Given the description of an element on the screen output the (x, y) to click on. 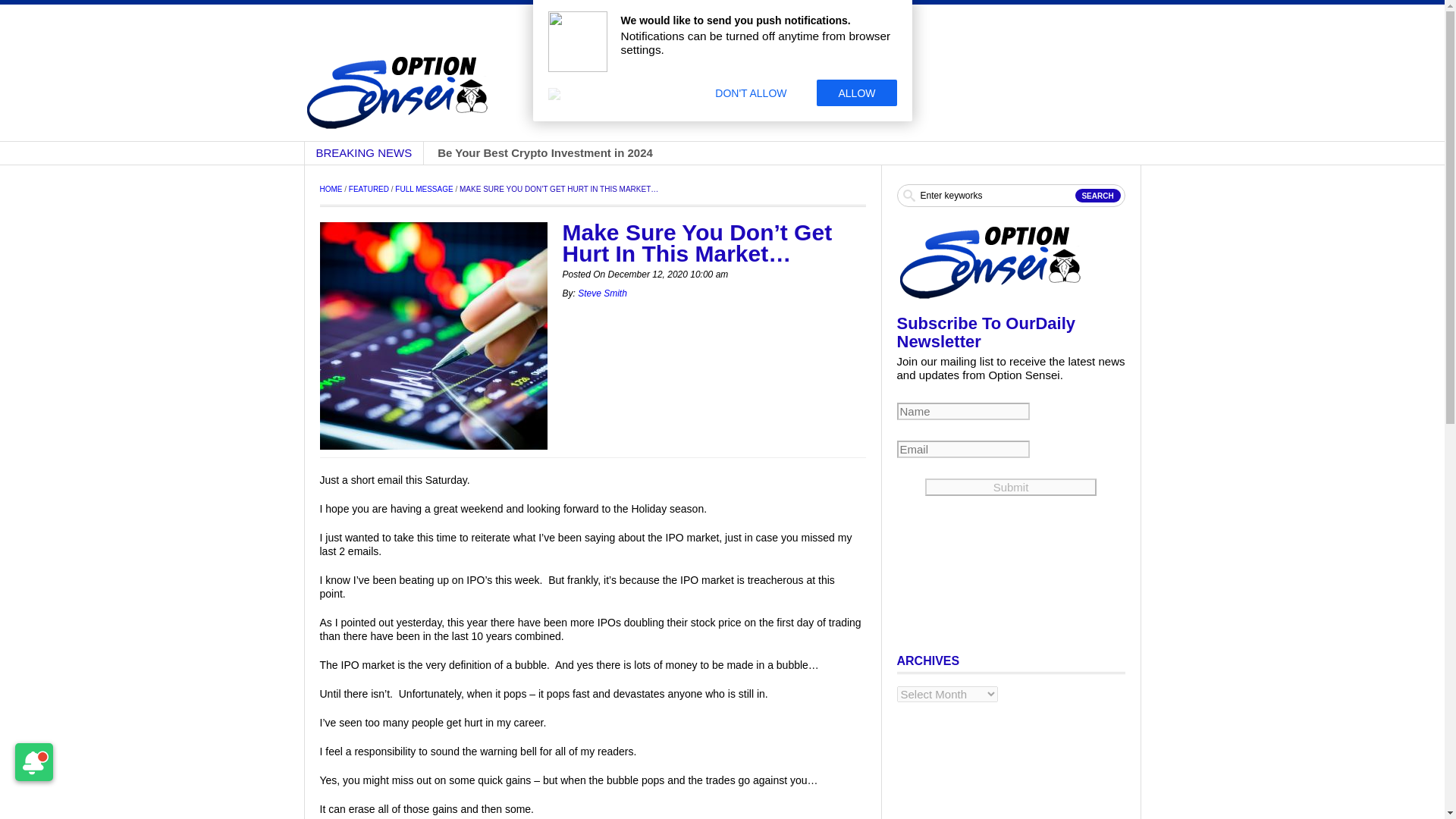
Enter keyworks (1010, 195)
Full Message (423, 189)
HOME (331, 189)
Search (1098, 195)
Submit (1010, 487)
ALLOW (856, 93)
Steve Smith (602, 293)
Home (331, 189)
DON'T ALLOW (751, 92)
Search (1098, 195)
FEATURED (368, 189)
Enter keyworks (1010, 195)
Search (1098, 195)
FULL MESSAGE (423, 189)
Featured (368, 189)
